Given the description of an element on the screen output the (x, y) to click on. 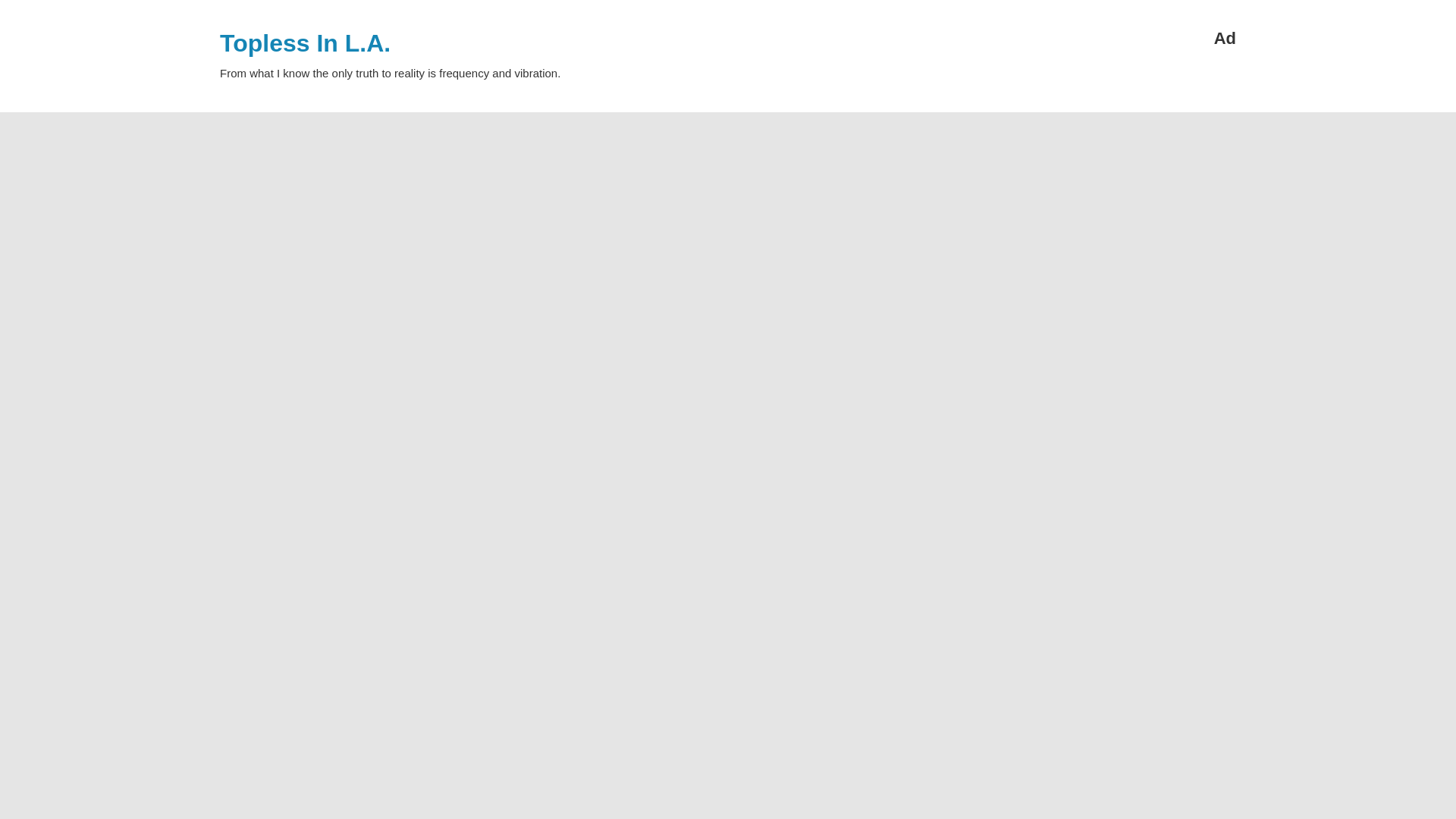
Topless In L.A. (304, 42)
